Given the description of an element on the screen output the (x, y) to click on. 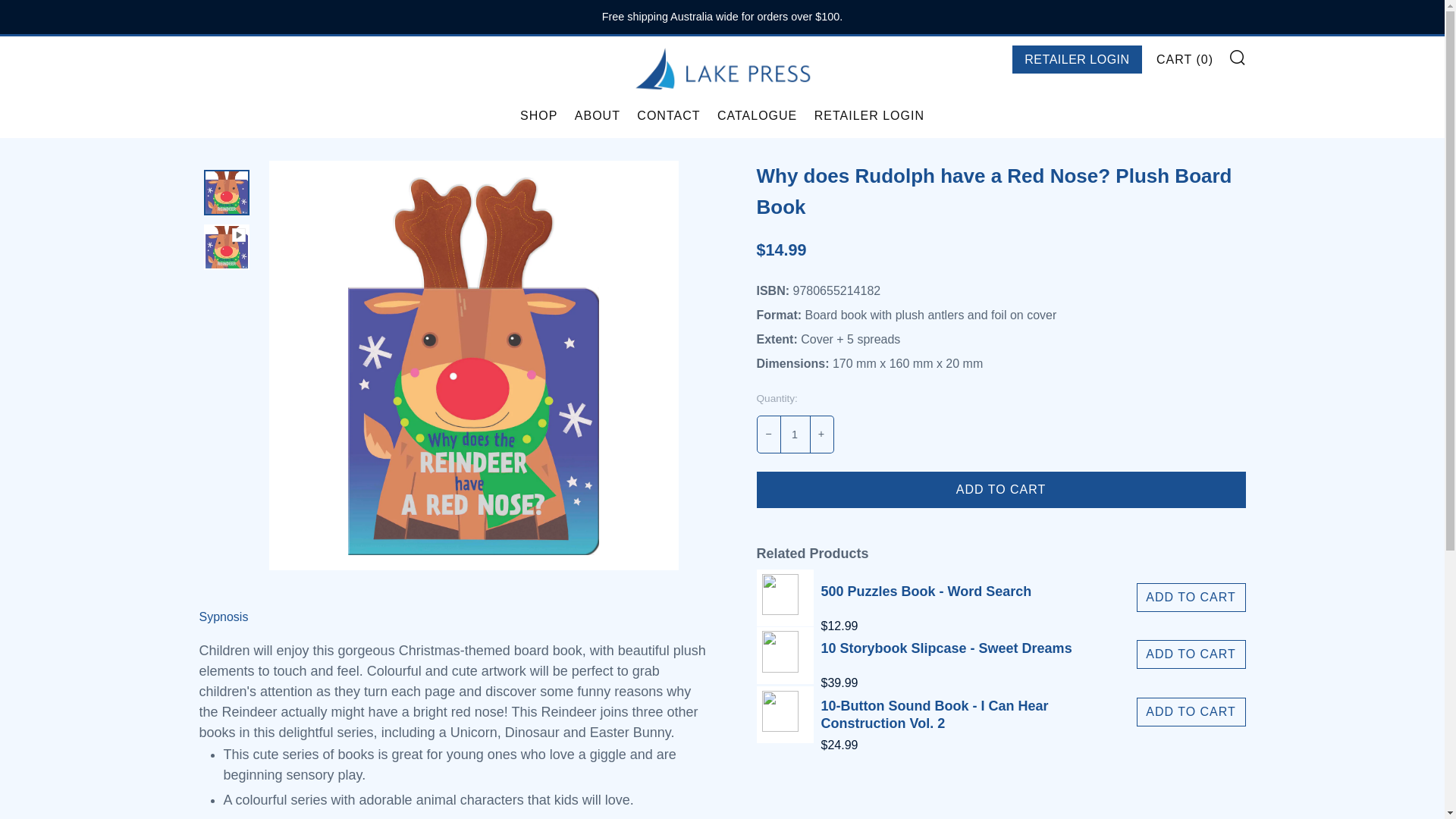
500 Puzzles Book - Word Search (925, 626)
10-Button Sound Book - I Can Hear Construction Vol. 2 (785, 714)
10-Button Sound Book - I Can Hear Construction Vol. 2 (978, 715)
10 Storybook Slipcase - Sweet Dreams (785, 655)
10-Button Sound Book - I Can Hear Construction Vol. 2 (978, 745)
500 Puzzles Book - Word Search (785, 597)
500 Puzzles Book - Word Search (925, 597)
10 Storybook Slipcase - Sweet Dreams (946, 654)
10 Storybook Slipcase - Sweet Dreams (946, 683)
